Given the description of an element on the screen output the (x, y) to click on. 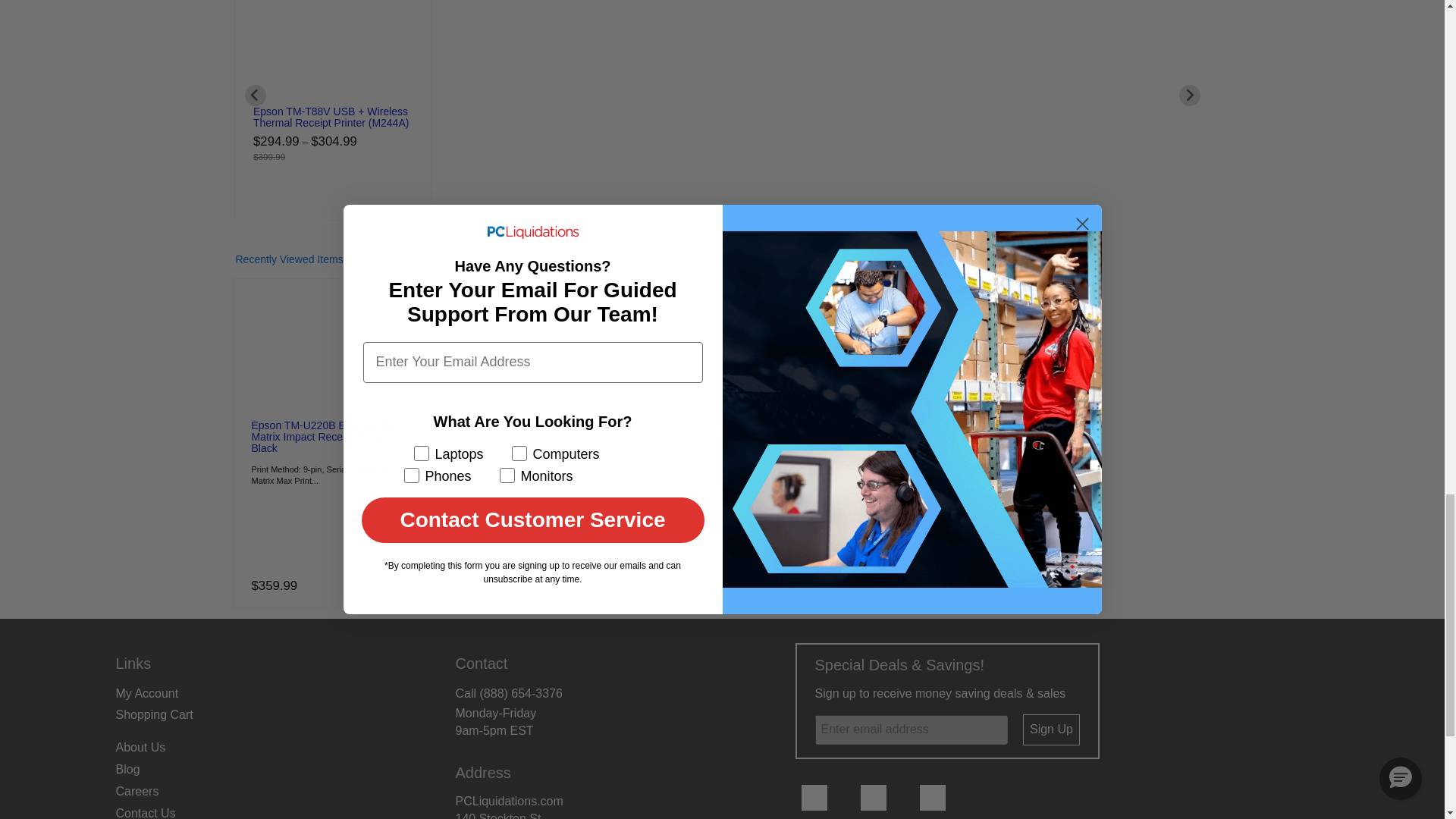
Sign Up (1051, 729)
